Given the description of an element on the screen output the (x, y) to click on. 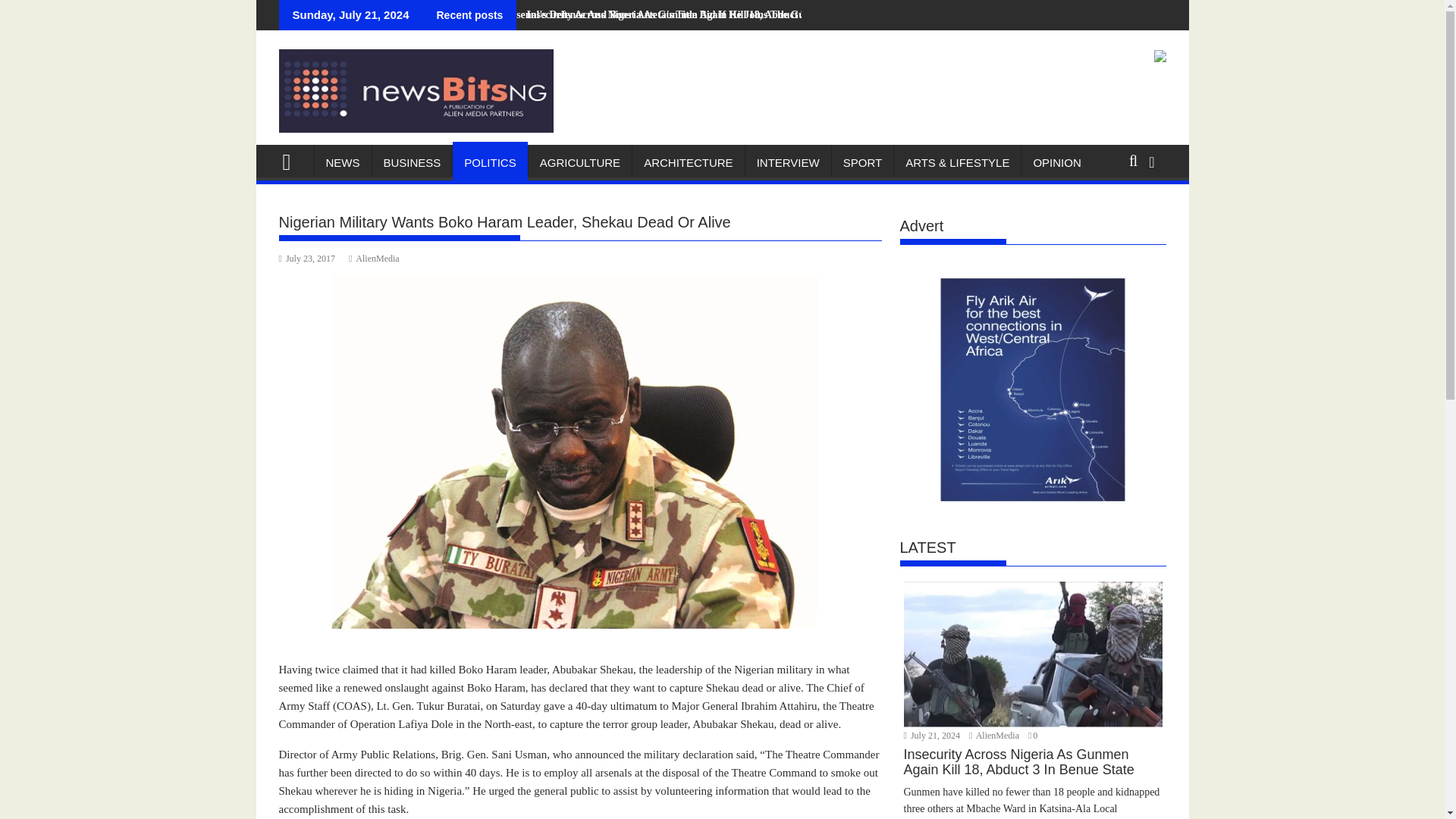
NEWS (342, 162)
INTERVIEW (788, 162)
AlienMedia (995, 735)
July 23, 2017 (306, 258)
SPORT (862, 162)
OPINION (1057, 162)
POLITICS (489, 162)
AlienMedia (373, 258)
BUSINESS (411, 162)
ARCHITECTURE (687, 162)
AGRICULTURE (579, 162)
